Given the description of an element on the screen output the (x, y) to click on. 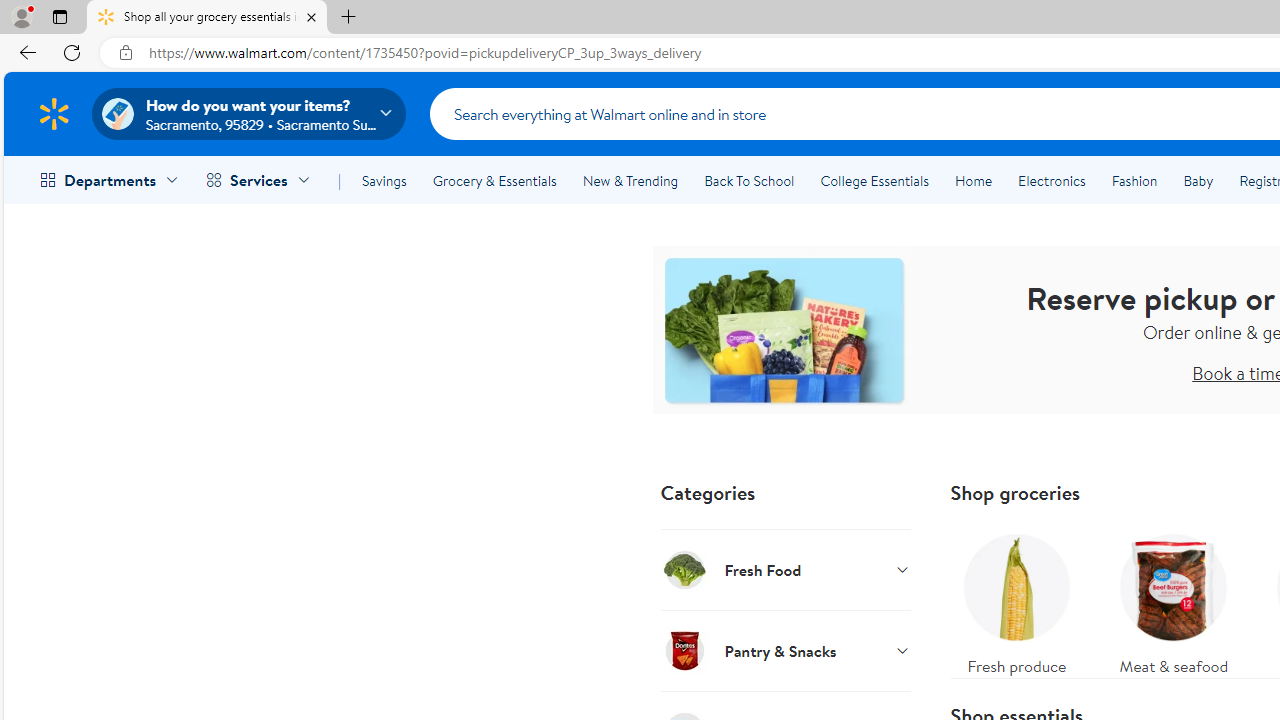
Grocery & Essentials (493, 180)
Fresh produce (1016, 599)
New & Trending (630, 180)
Meat & seafood (1174, 599)
Baby (1197, 180)
Fresh Food (785, 569)
Savings (384, 180)
Pantry & Snacks (785, 650)
